Given the description of an element on the screen output the (x, y) to click on. 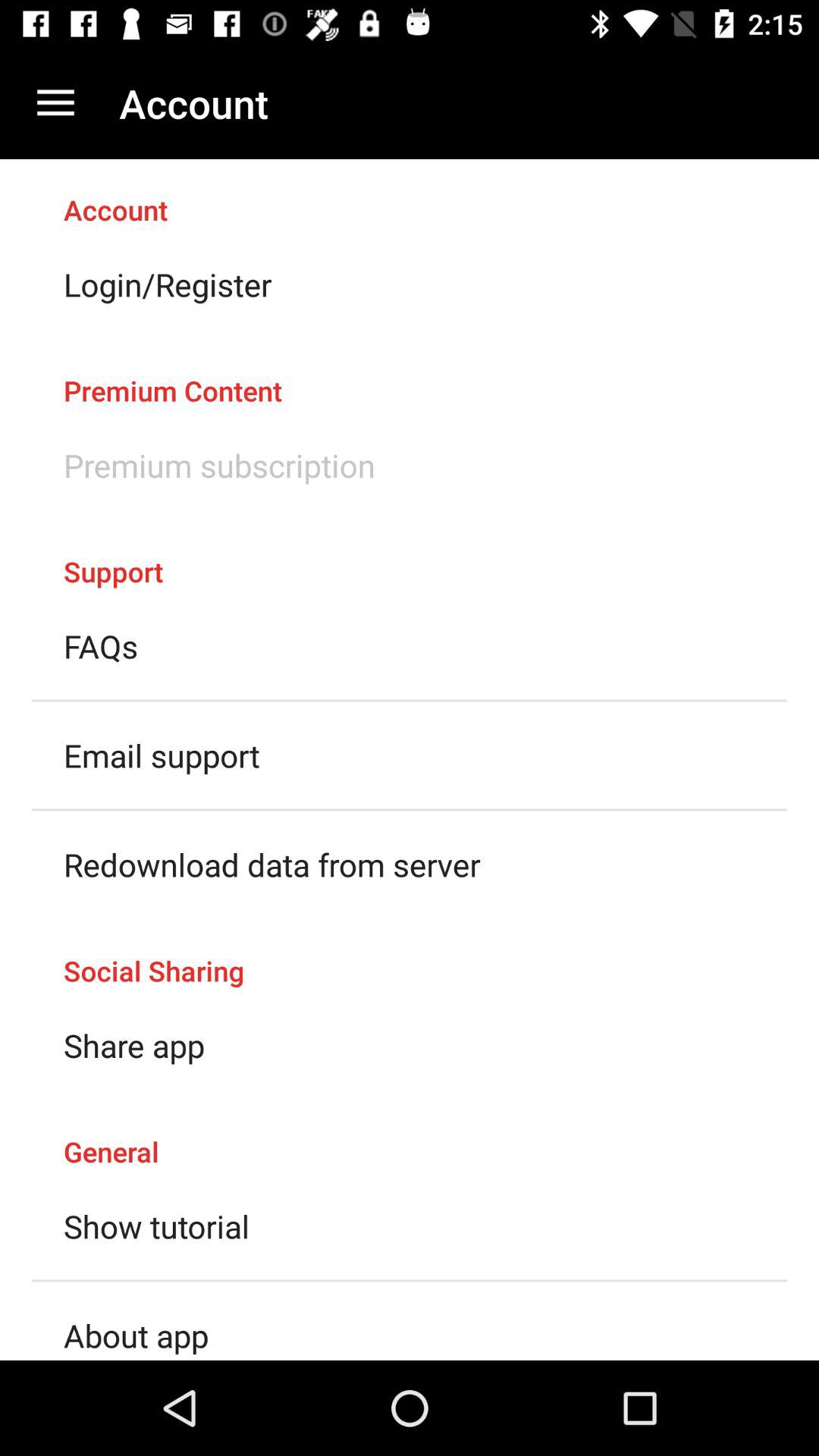
select the show tutorial item (156, 1225)
